Given the description of an element on the screen output the (x, y) to click on. 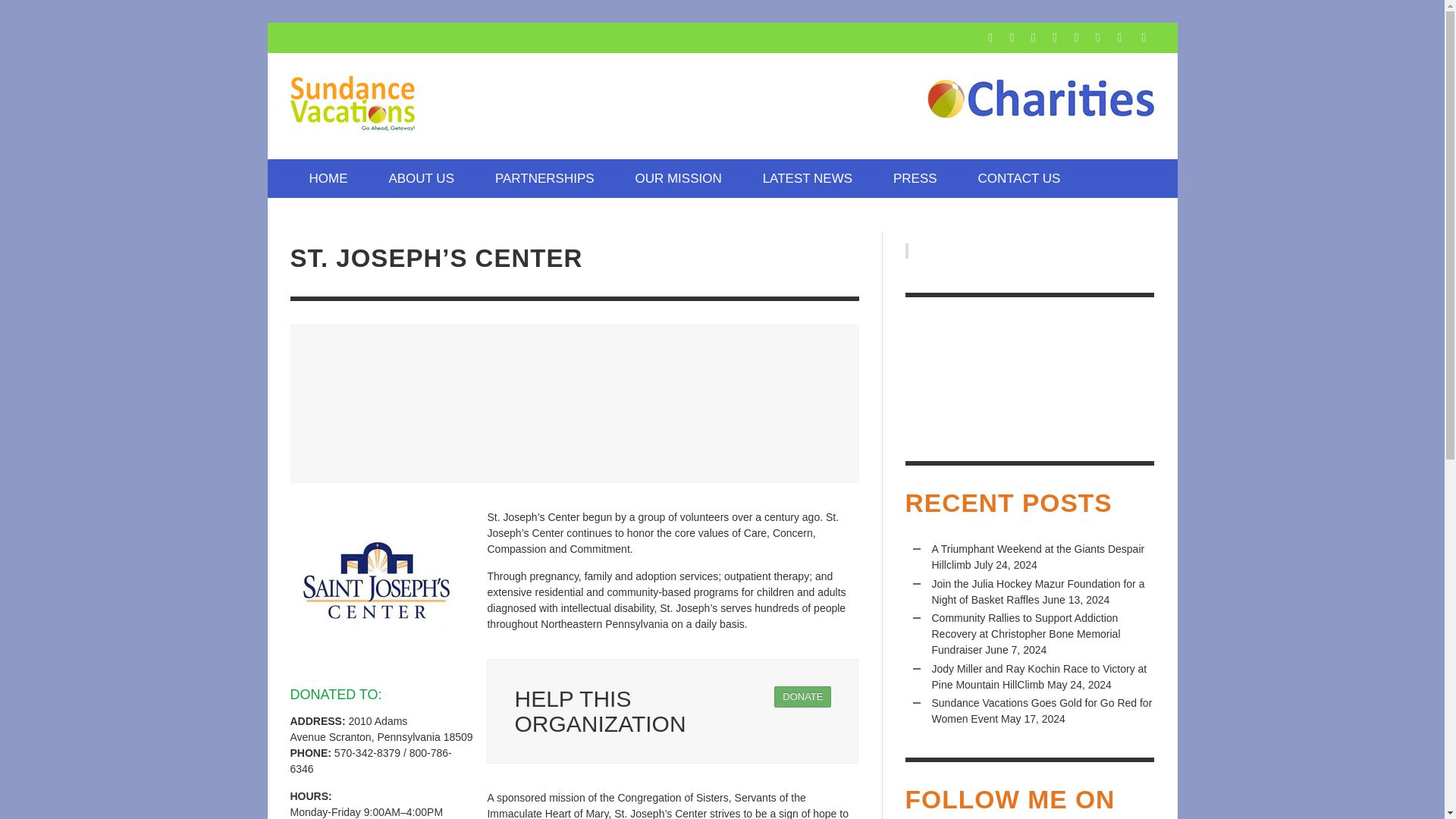
OUR MISSION (677, 178)
PRESS (915, 178)
CONTACT US (1018, 178)
Sundance Vacations Goes Gold for Go Red for Women Event (1041, 710)
A Triumphant Weekend at the Giants Despair Hillclimb (1037, 556)
LATEST NEWS (807, 178)
St Joseph Center (376, 584)
